Given the description of an element on the screen output the (x, y) to click on. 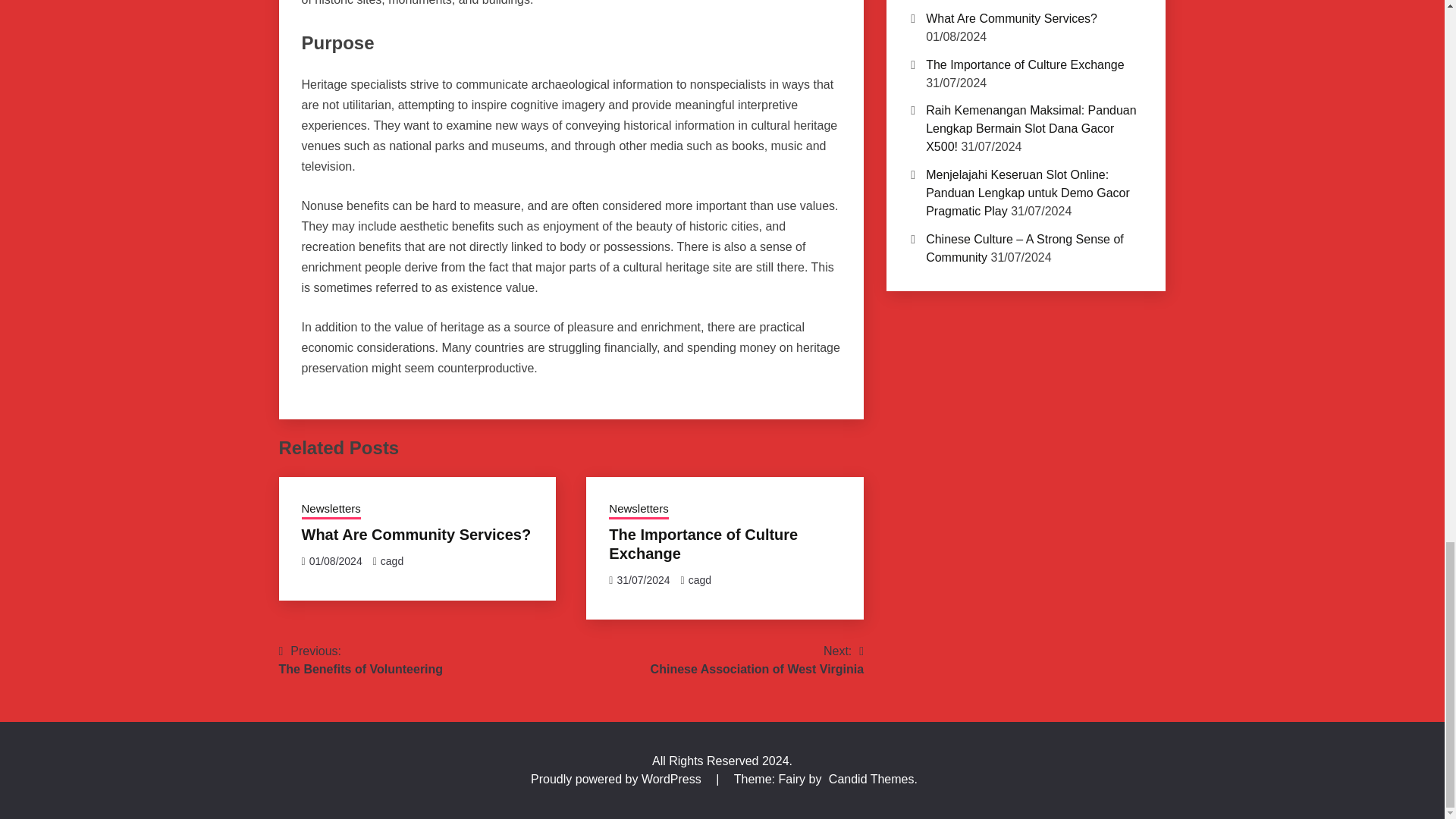
Newsletters (331, 510)
Newsletters (757, 660)
The Importance of Culture Exchange (638, 510)
cagd (361, 660)
cagd (702, 543)
What Are Community Services? (391, 561)
